Given the description of an element on the screen output the (x, y) to click on. 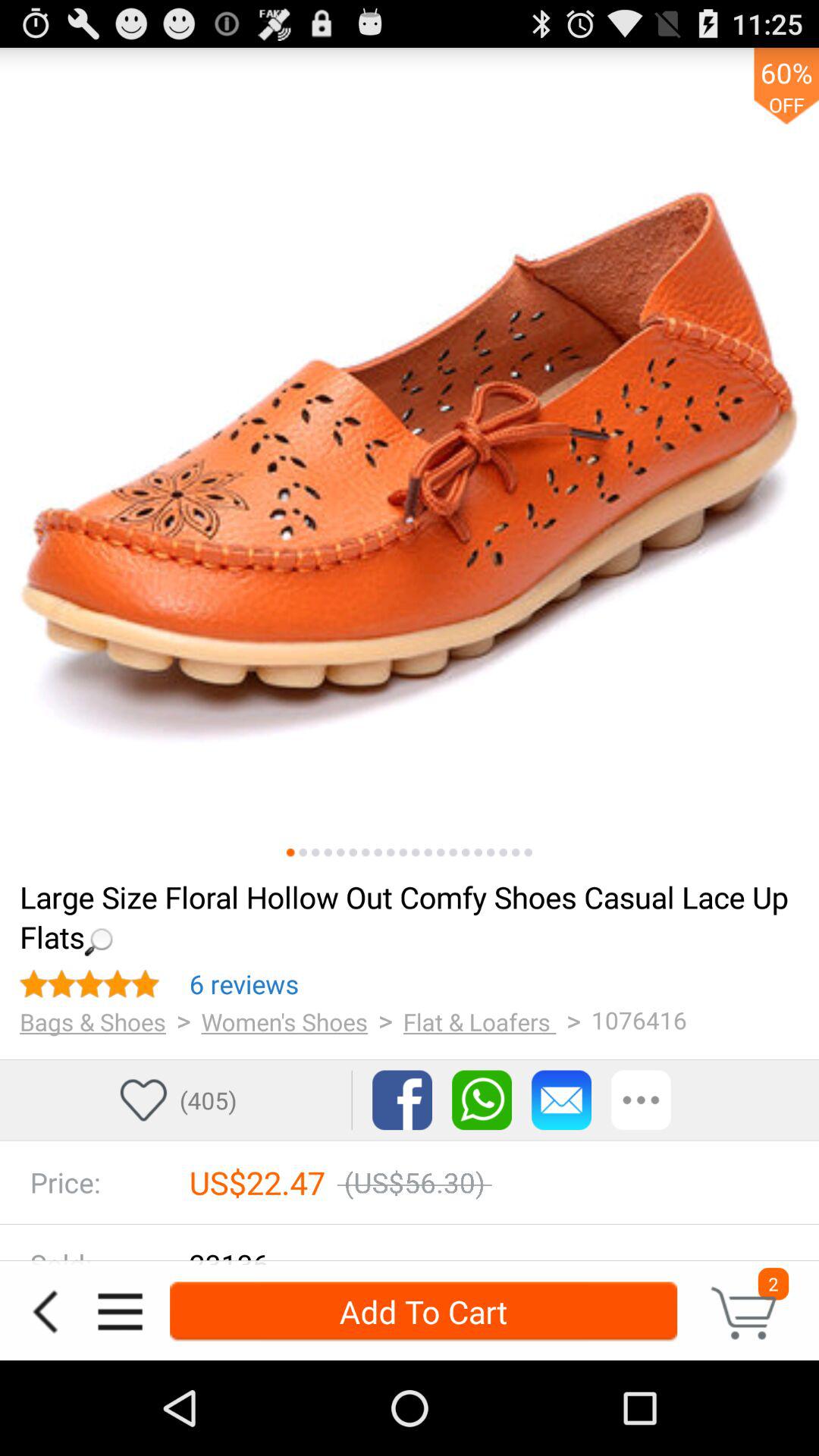
open item above loading... icon (303, 852)
